Given the description of an element on the screen output the (x, y) to click on. 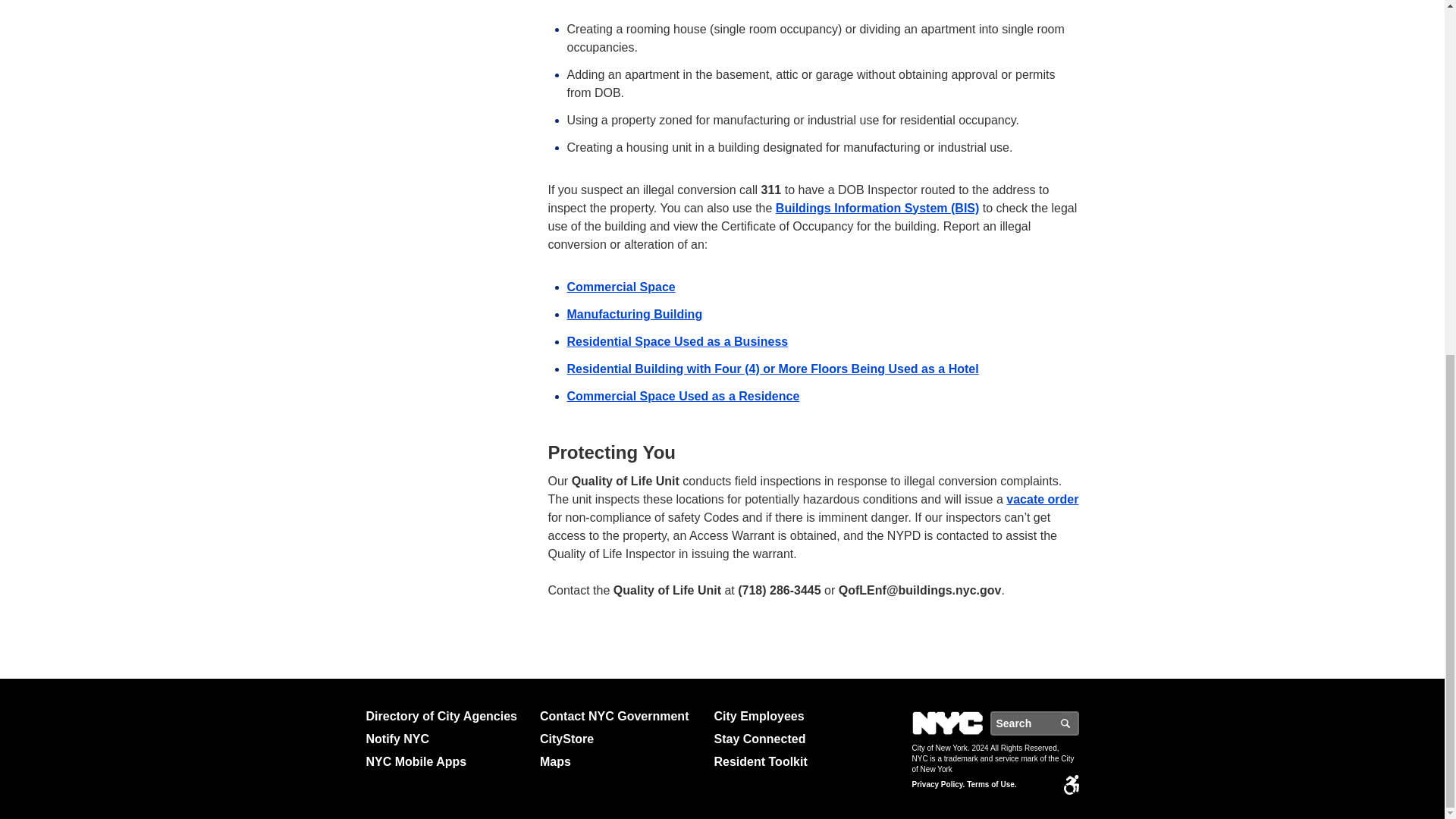
Terms of Use (991, 784)
vacate order (1042, 499)
Residential Space Used as a Business (678, 340)
Directory of City Agencies (446, 716)
Commercial Space Used as a Residence (683, 395)
Privacy Ploicy  (937, 784)
Commercial Space (621, 286)
Manufacturing Building (635, 313)
